Given the description of an element on the screen output the (x, y) to click on. 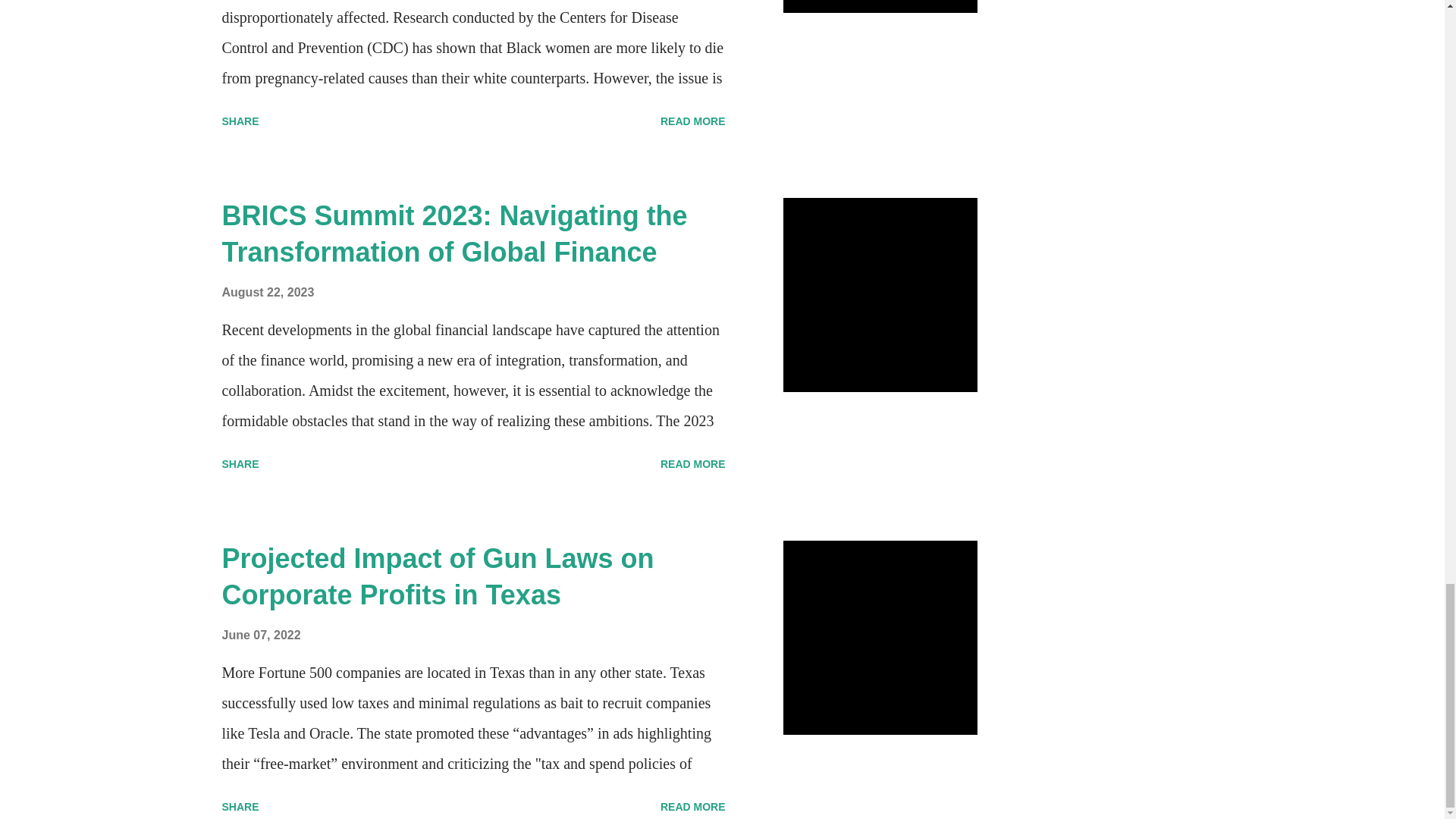
August 22, 2023 (267, 291)
SHARE (239, 120)
Projected Impact of Gun Laws on Corporate Profits in Texas (437, 576)
June 07, 2022 (260, 634)
SHARE (239, 463)
READ MORE (692, 120)
READ MORE (692, 463)
